Given the description of an element on the screen output the (x, y) to click on. 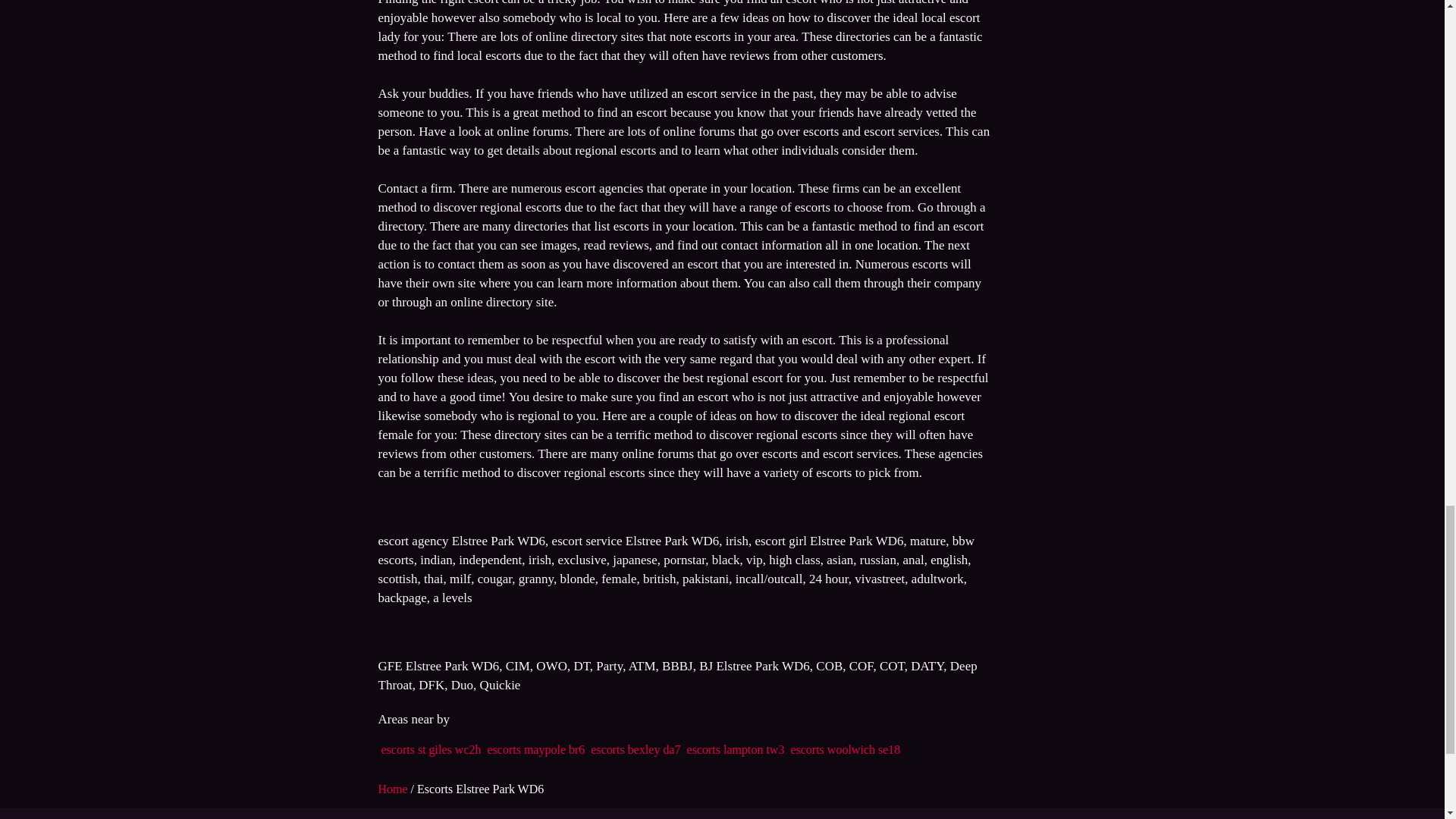
escorts bexley da7 (635, 748)
escorts lampton tw3 (735, 748)
escorts maypole br6 (535, 748)
escorts woolwich se18 (844, 748)
escorts st giles wc2h (430, 748)
Home (393, 788)
